Given the description of an element on the screen output the (x, y) to click on. 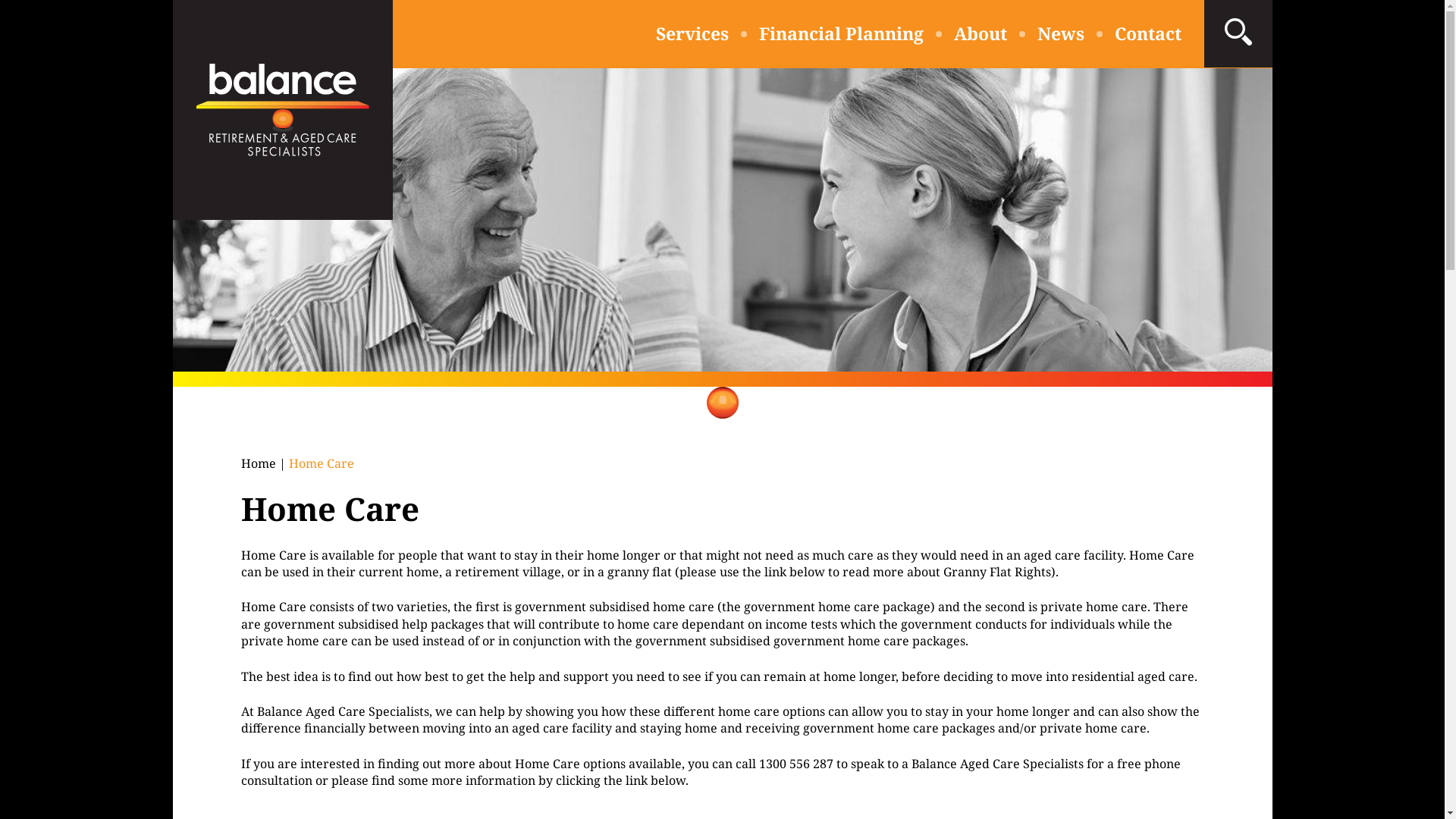
News Element type: text (1060, 33)
Financial Planning Element type: text (840, 33)
Balance Retirement & Aged Care Specialists Element type: text (282, 109)
Home Element type: text (258, 463)
About Element type: text (980, 33)
Services Element type: text (691, 33)
Contact Element type: text (1147, 33)
